Given the description of an element on the screen output the (x, y) to click on. 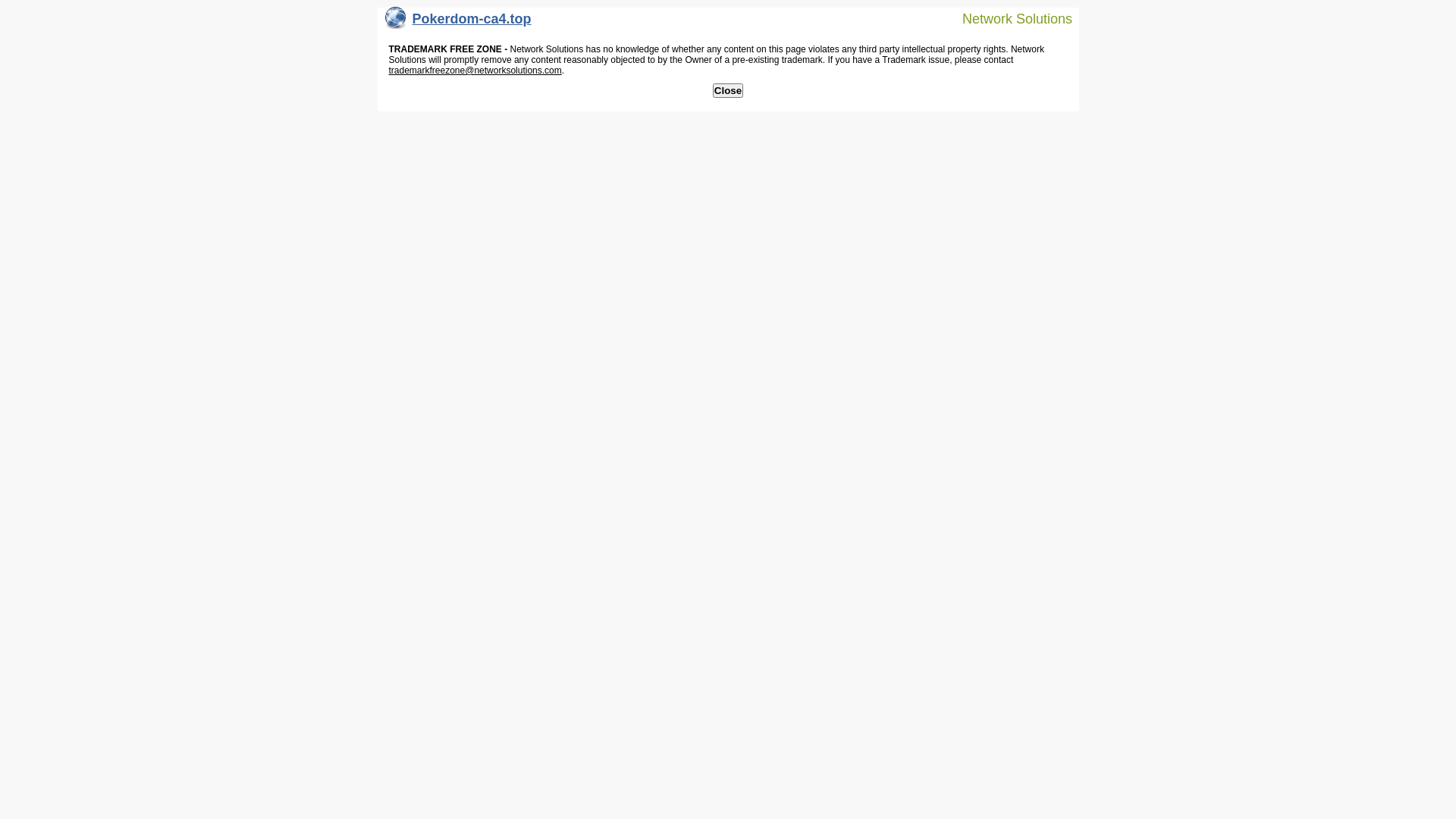
Network Solutions Element type: text (1007, 17)
trademarkfreezone@networksolutions.com Element type: text (474, 70)
Pokerdom-ca4.top Element type: text (458, 21)
Close Element type: text (727, 90)
